Given the description of an element on the screen output the (x, y) to click on. 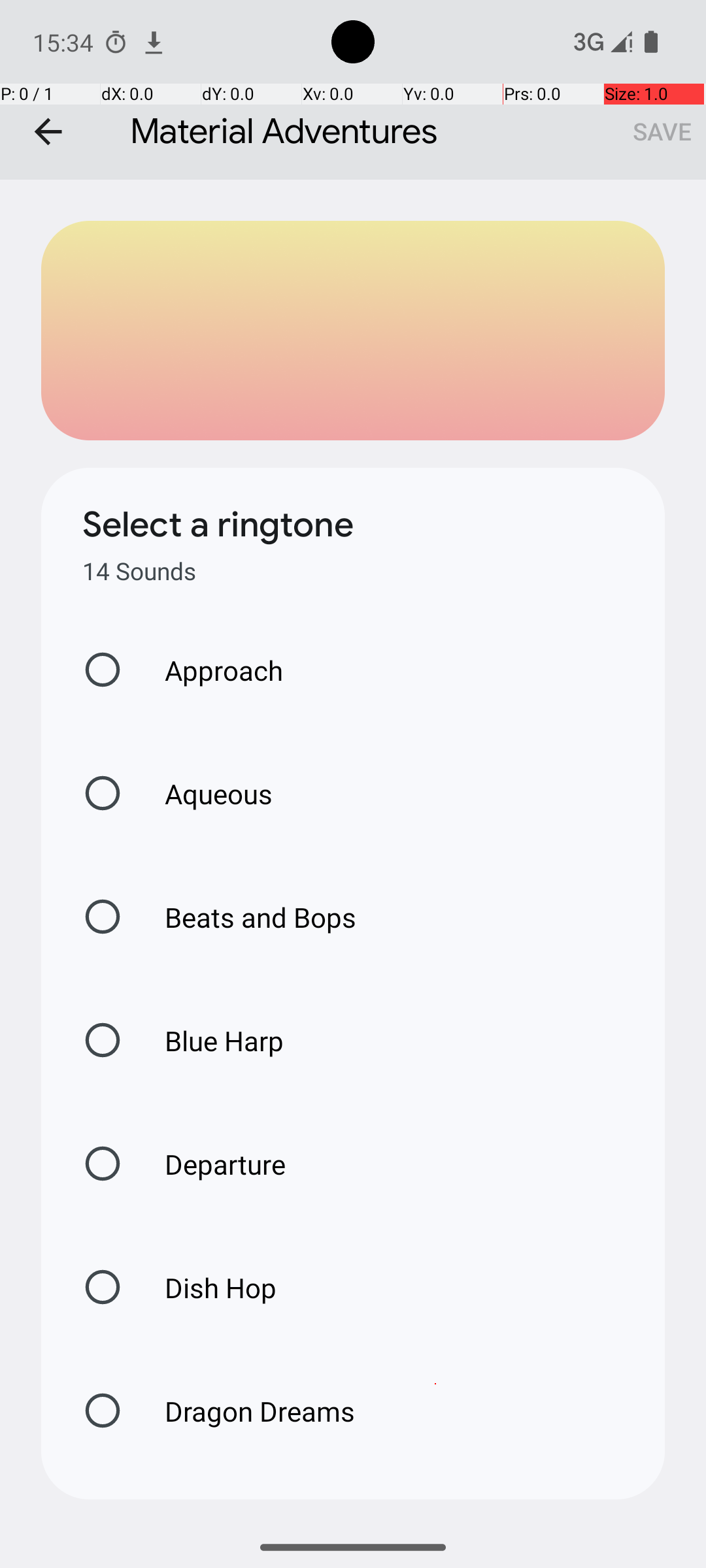
14 Sounds Element type: android.widget.TextView (139, 570)
Approach Element type: android.widget.TextView (210, 669)
Aqueous Element type: android.widget.TextView (204, 793)
Beats and Bops Element type: android.widget.TextView (246, 916)
Blue Harp Element type: android.widget.TextView (210, 1040)
Departure Element type: android.widget.TextView (211, 1163)
Dish Hop Element type: android.widget.TextView (206, 1287)
Dragon Dreams Element type: android.widget.TextView (245, 1410)
